Given the description of an element on the screen output the (x, y) to click on. 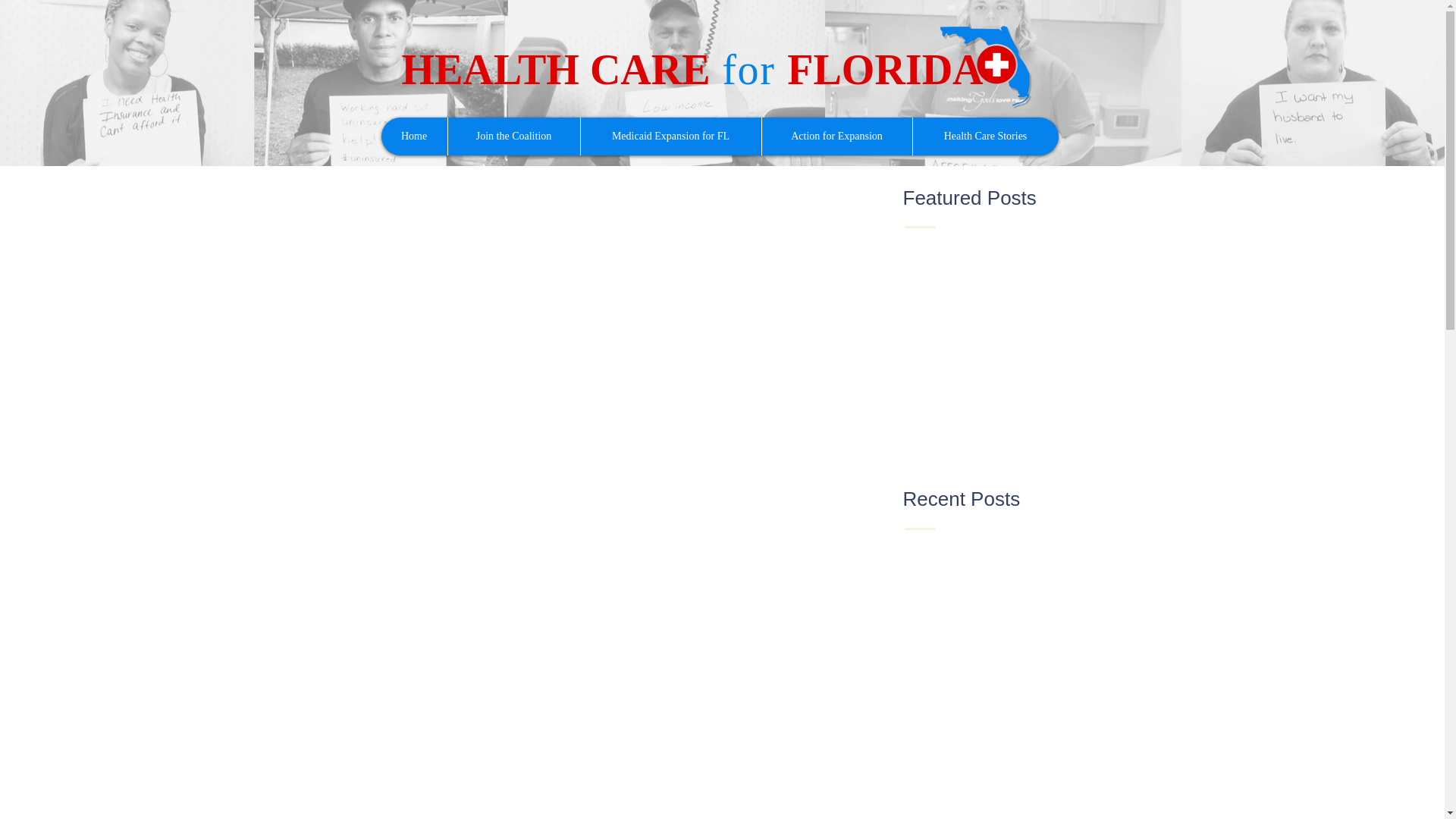
FLORIDA (884, 69)
Action for Expansion (836, 136)
Home (413, 136)
Join the Coalition (512, 136)
HEALTH CARE (555, 69)
Health Care Stories (984, 136)
for (748, 69)
Medicaid Expansion for FL (669, 136)
